Given the description of an element on the screen output the (x, y) to click on. 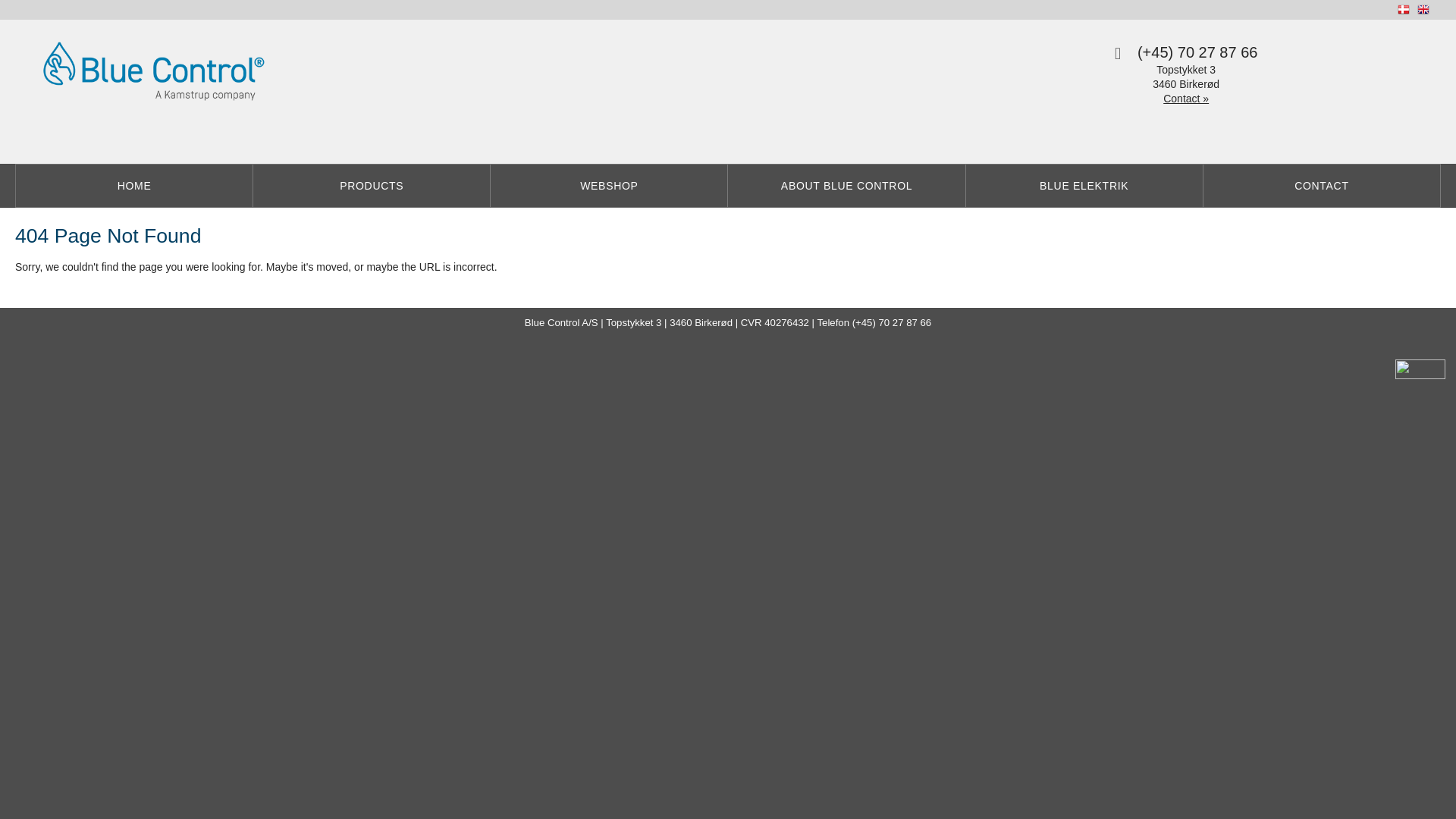
HOME (134, 185)
ABOUT BLUE CONTROL (846, 185)
WEBSHOP (609, 185)
PRODUCTS (371, 185)
CONTACT (1322, 185)
BLUE ELEKTRIK (1085, 185)
